Given the description of an element on the screen output the (x, y) to click on. 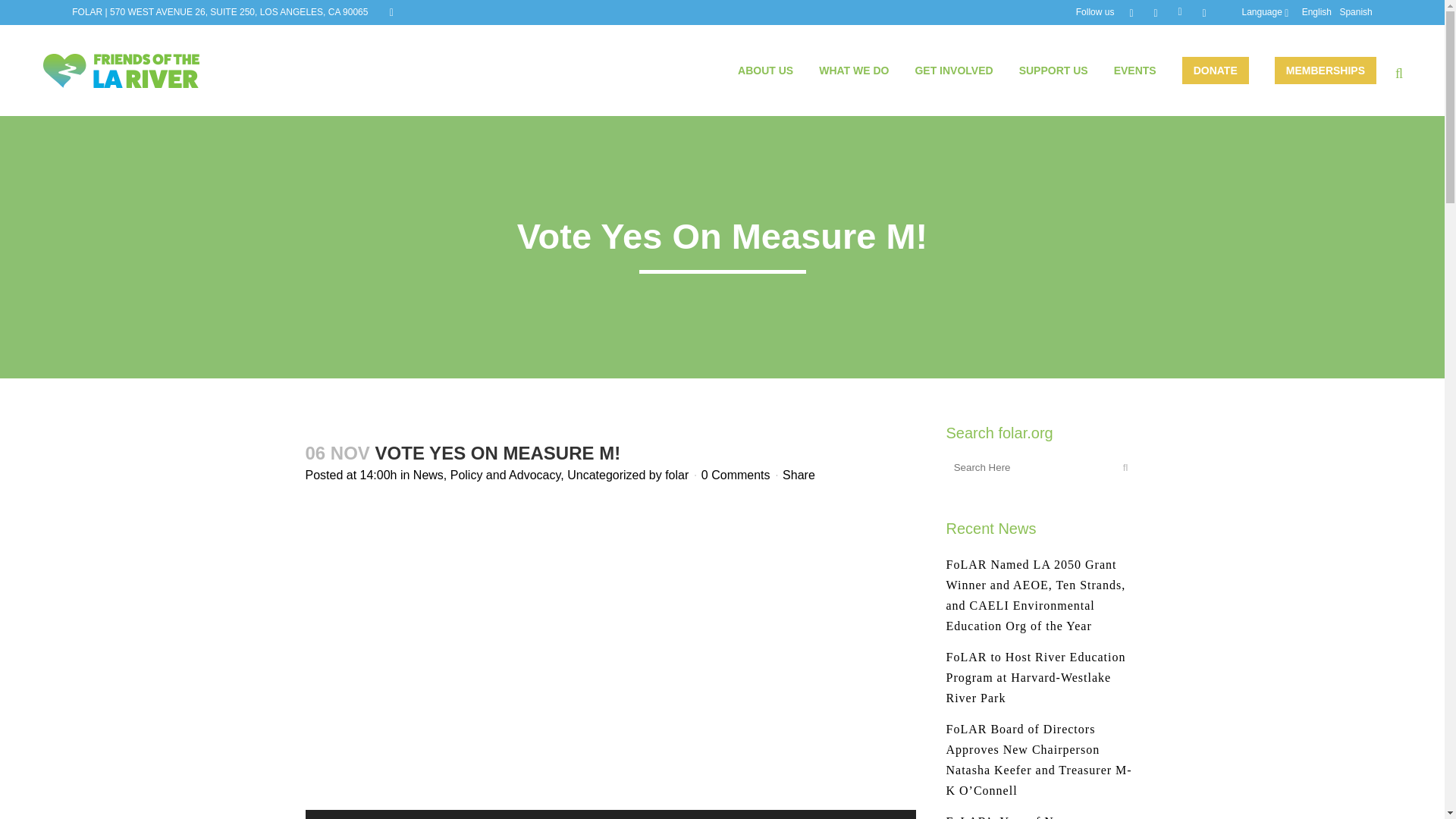
DONATE (1215, 70)
MEMBERSHIPS (1325, 70)
SUPPORT US (1053, 70)
ABOUT US (765, 70)
Spanish (1355, 11)
GET INVOLVED (953, 70)
English (1316, 11)
WHAT WE DO (853, 70)
